Given the description of an element on the screen output the (x, y) to click on. 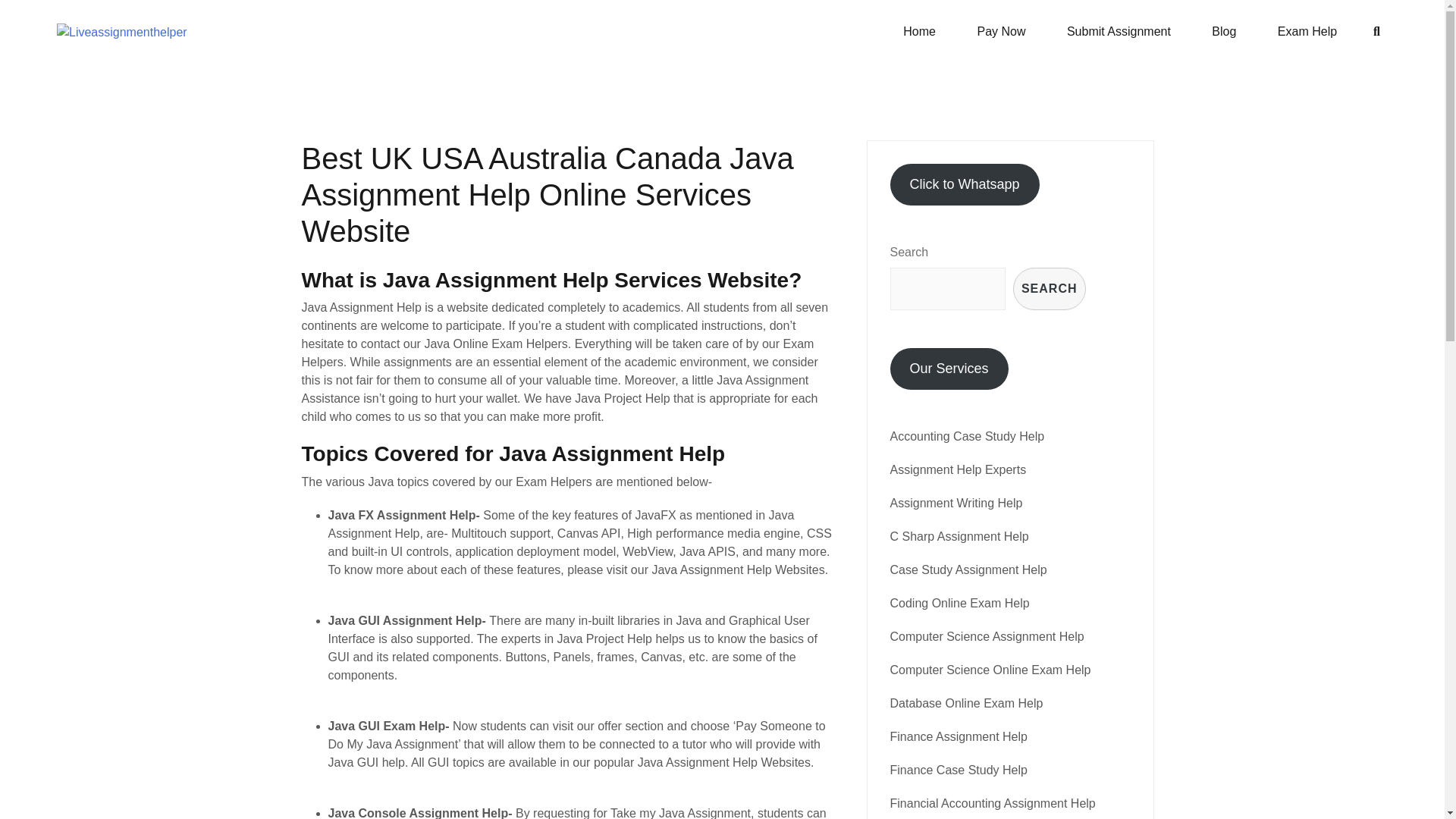
C Sharp Assignment Help (959, 535)
Assignment Help Experts (957, 469)
Our Services (949, 368)
Coding Online Exam Help (959, 603)
Pay Now (1000, 31)
Computer Science Online Exam Help (989, 669)
Submit Assignment (1118, 31)
Database Online Exam Help (966, 703)
SEARCH (1049, 288)
Financial Accounting Assignment Help (992, 802)
